Given the description of an element on the screen output the (x, y) to click on. 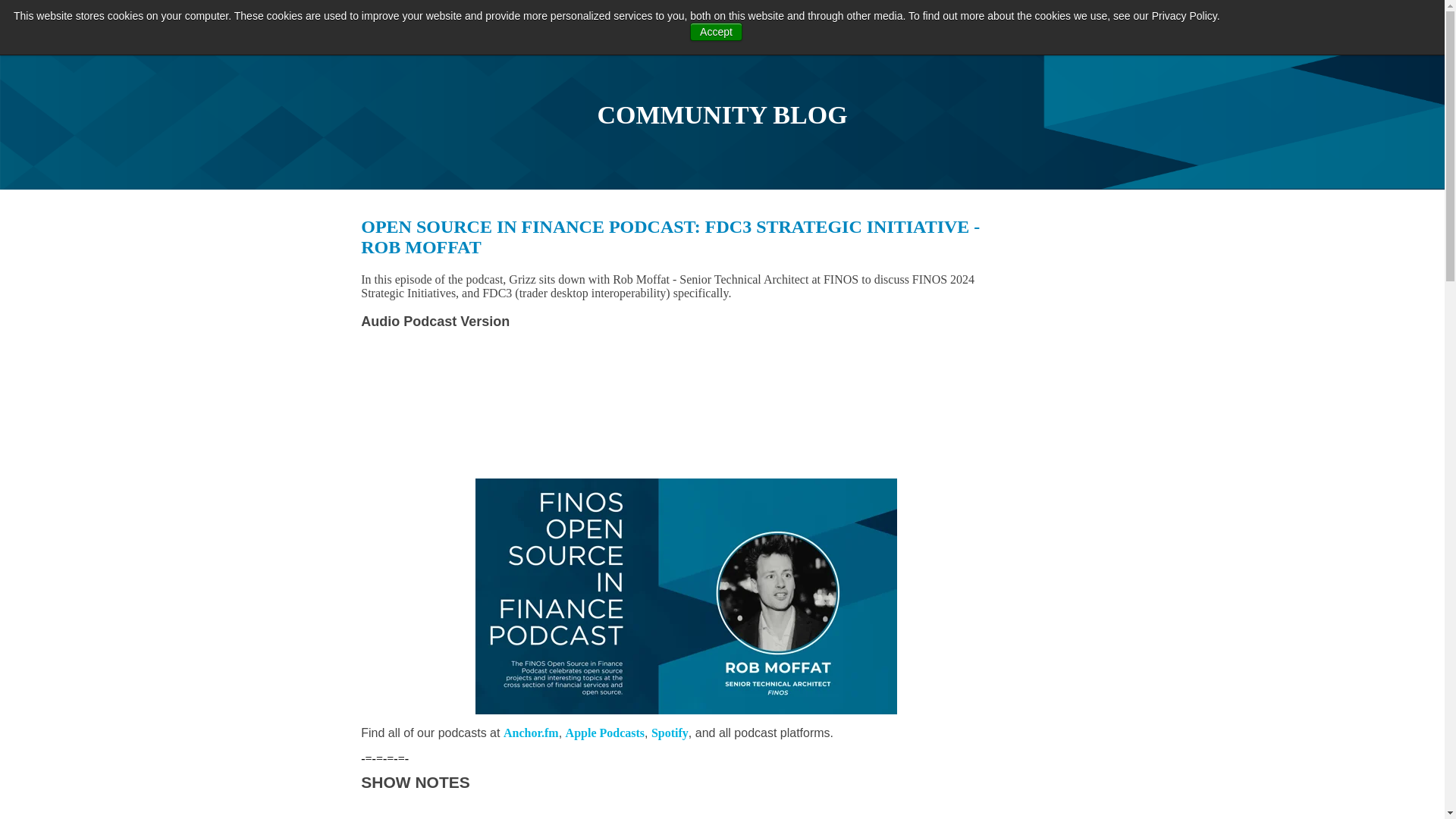
RESOURCES (992, 21)
FINOS (102, 18)
PROJECTS (698, 21)
MEMBERSHIP (892, 21)
Accept (716, 31)
COMMUNITY (791, 21)
